Given the description of an element on the screen output the (x, y) to click on. 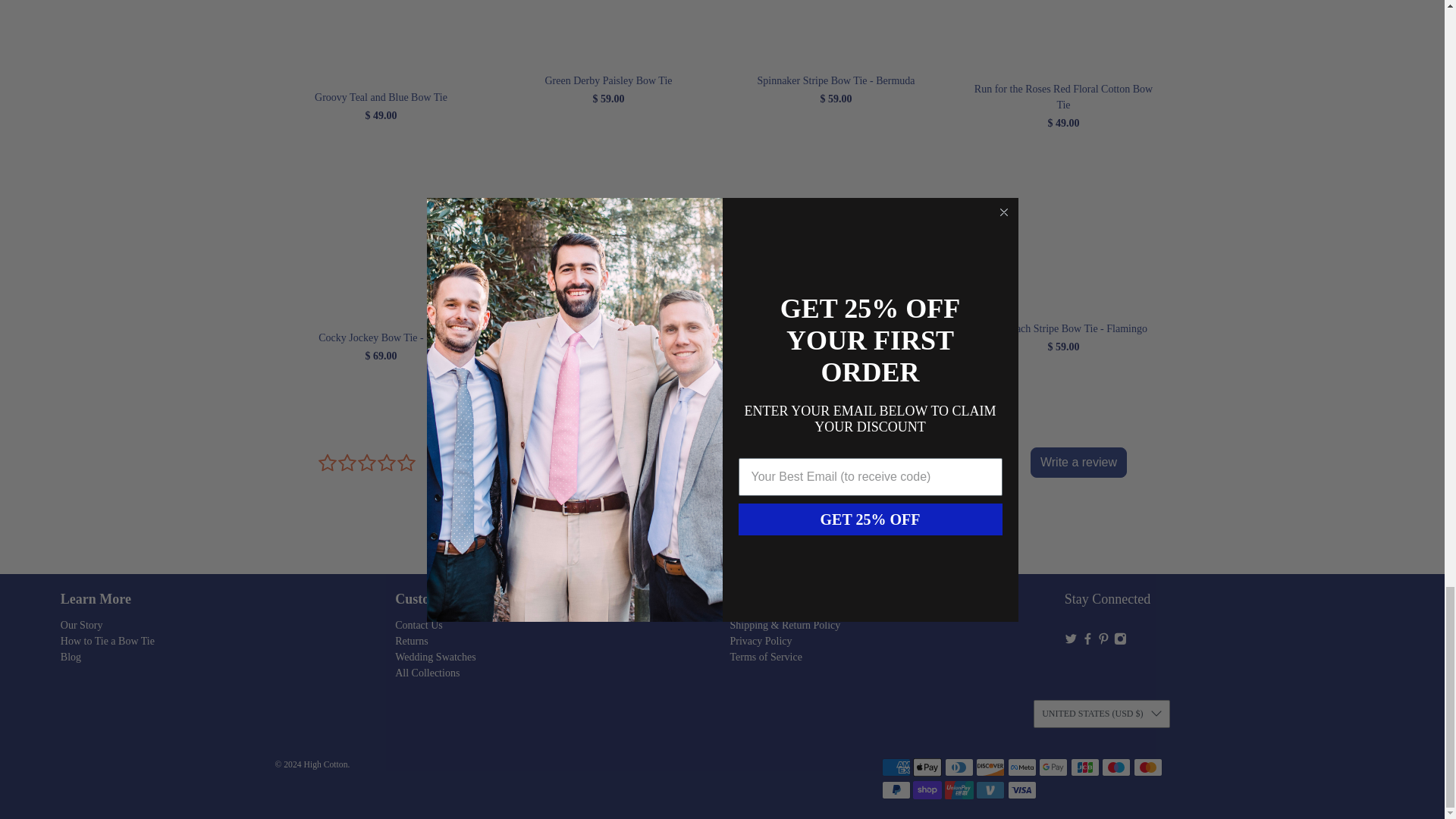
High Cotton on Instagram (1119, 641)
High Cotton on Pinterest (1103, 641)
Product reviews widget (722, 495)
High Cotton on Twitter (1070, 641)
High Cotton on Facebook (1087, 641)
